Given the description of an element on the screen output the (x, y) to click on. 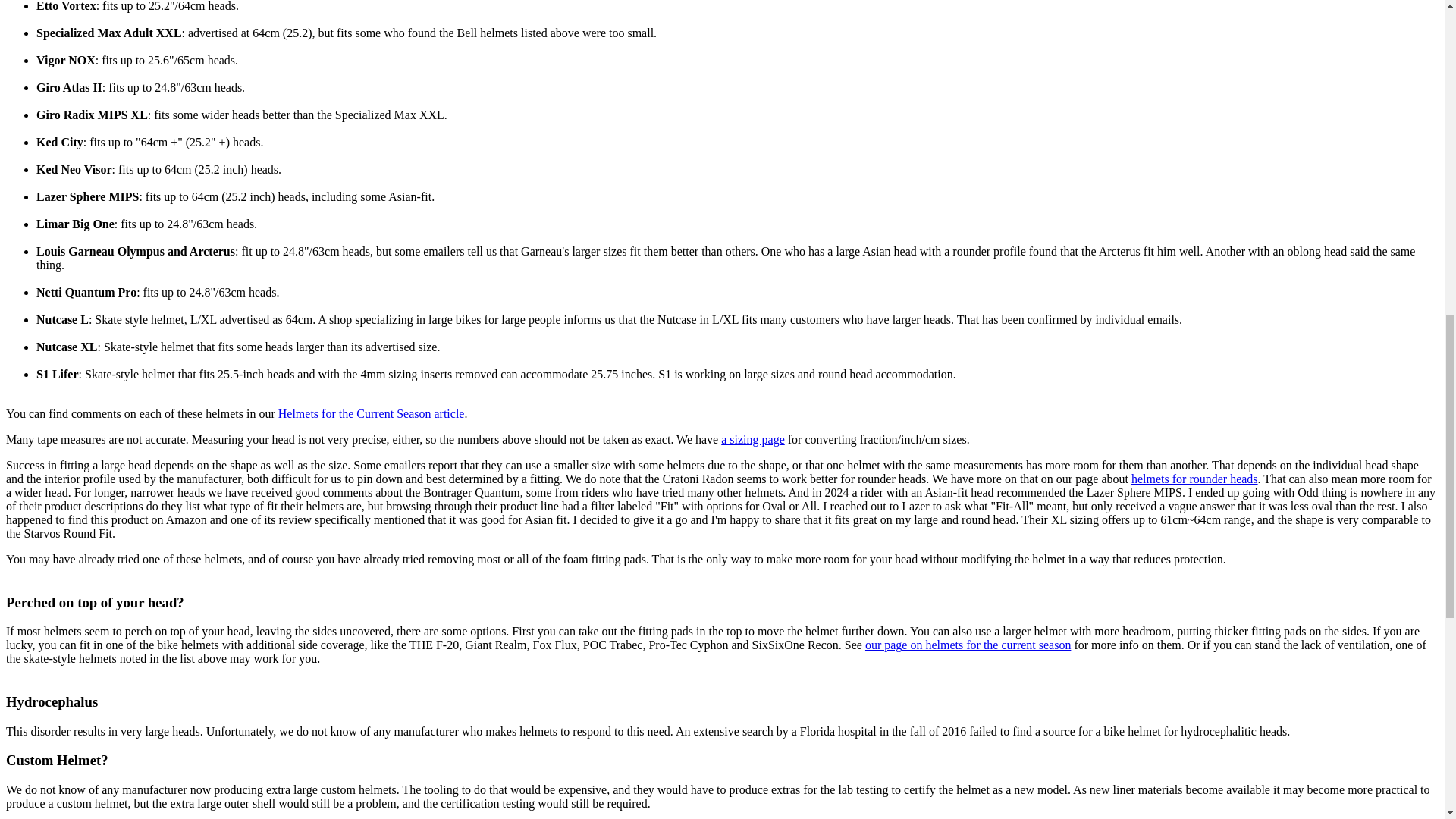
helmets for rounder heads (1194, 478)
Helmets for the Current Season article (371, 413)
a sizing page (752, 439)
our page on helmets for the current season (967, 644)
